Given the description of an element on the screen output the (x, y) to click on. 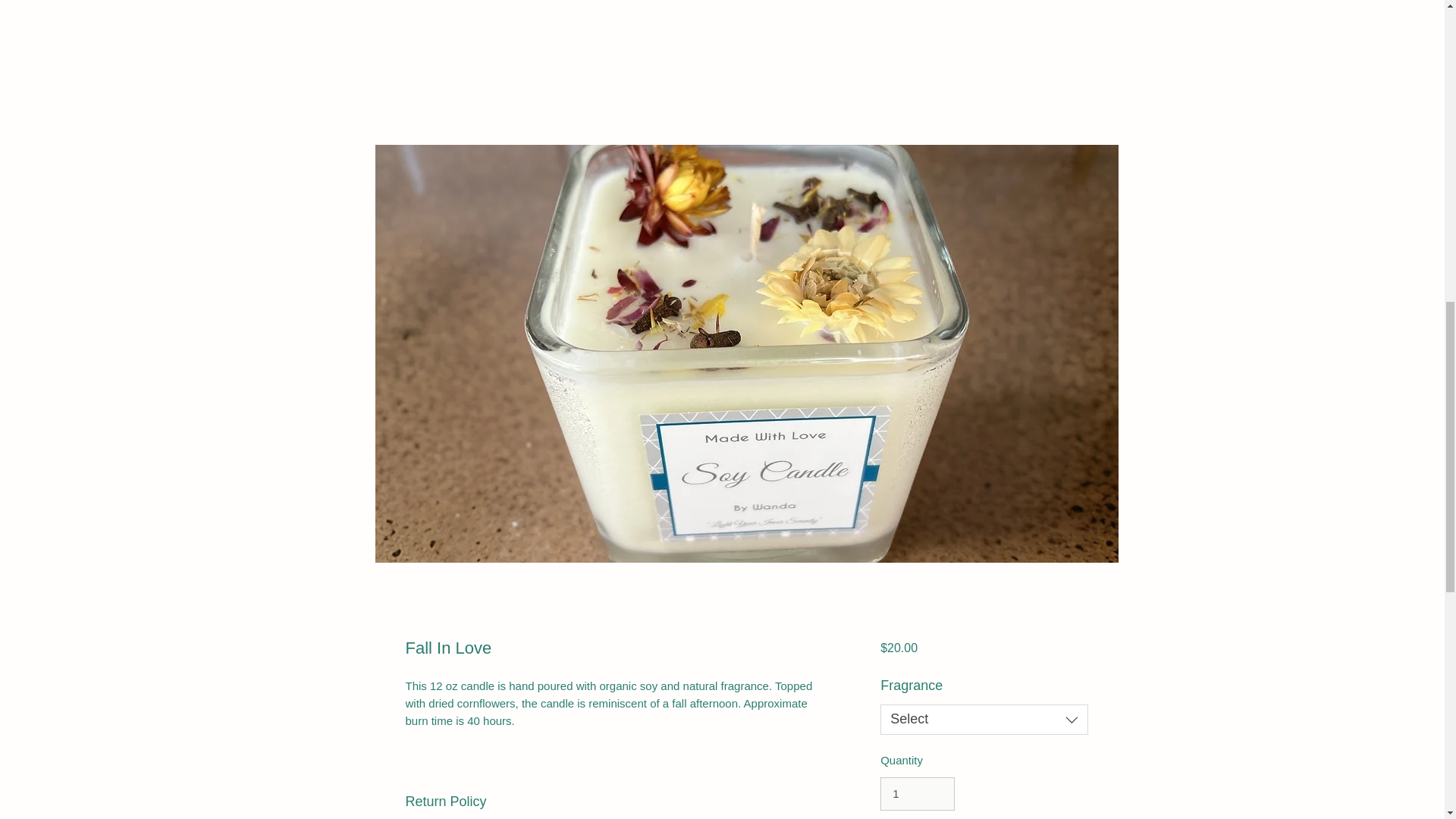
1 (917, 793)
Select (983, 719)
